Given the description of an element on the screen output the (x, y) to click on. 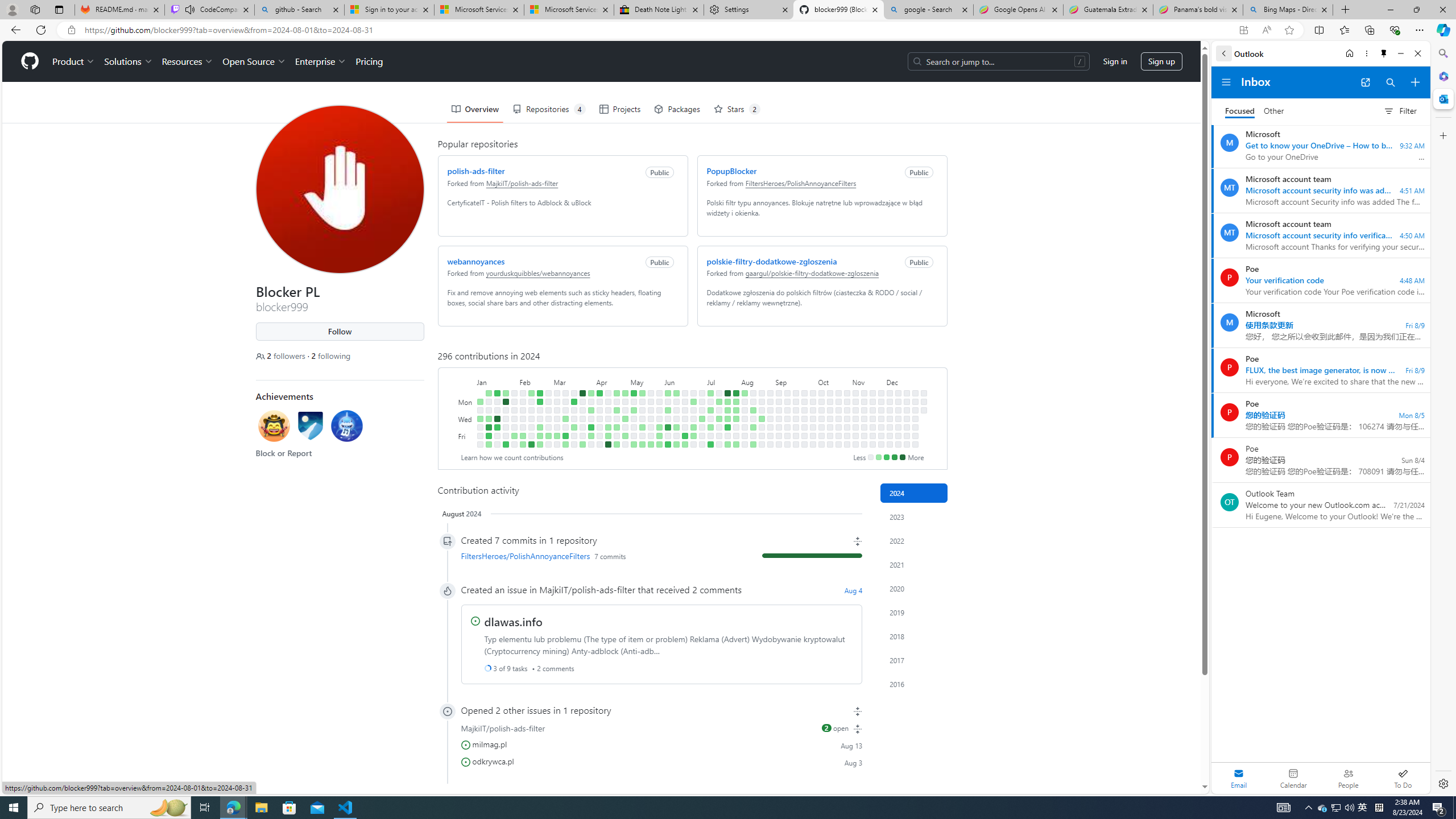
3 contributions on April 5th. (591, 435)
No contributions on October 2nd. (812, 418)
No contributions on February 13th. (530, 410)
No contributions on November 13th. (863, 418)
Opened 2 other issues in 1 repository (661, 709)
No contributions on November 12th. (863, 410)
No contributions on November 19th. (872, 410)
No contributions on March 3rd. (556, 392)
1 contribution on August 15th. (753, 427)
2 contributions on January 21st. (505, 392)
No contributions on July 19th. (718, 435)
No contributions on September 17th. (795, 410)
2022 (913, 540)
No contributions on January 28th. (513, 392)
No contributions on September 15th. (795, 392)
